Given the description of an element on the screen output the (x, y) to click on. 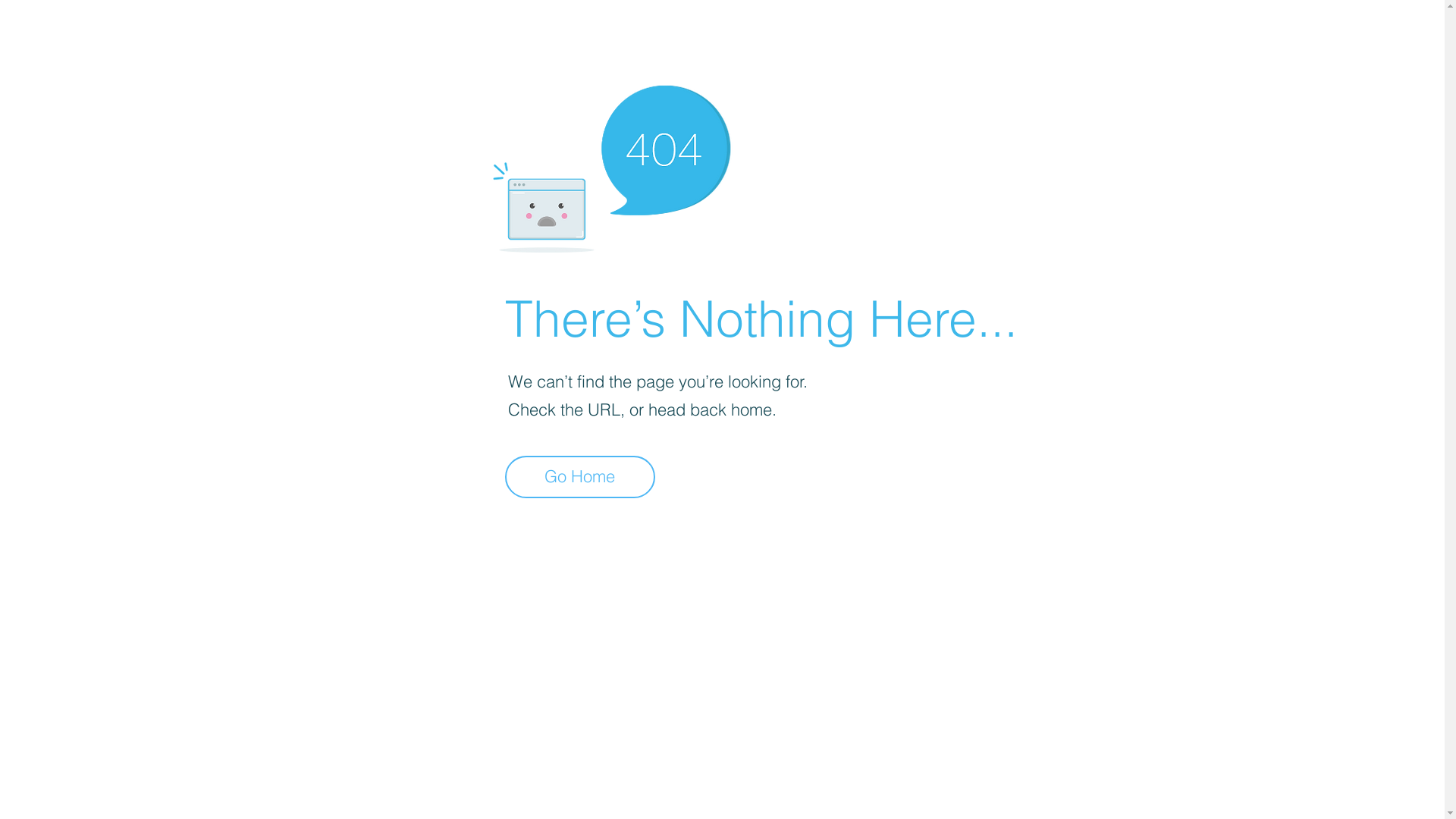
404-icon_2.png Element type: hover (610, 164)
Go Home Element type: text (580, 476)
